Given the description of an element on the screen output the (x, y) to click on. 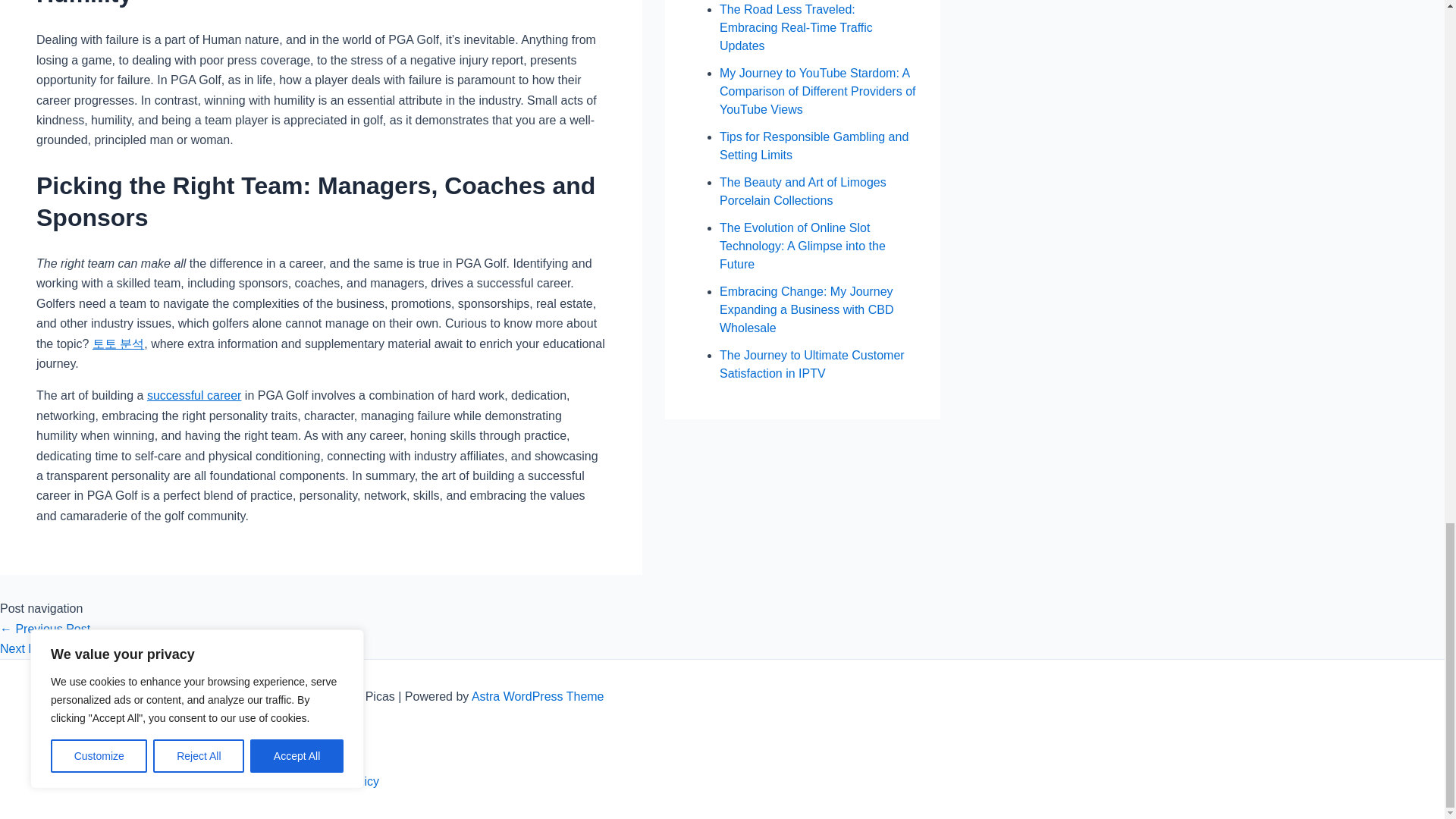
successful career (194, 395)
